Given the description of an element on the screen output the (x, y) to click on. 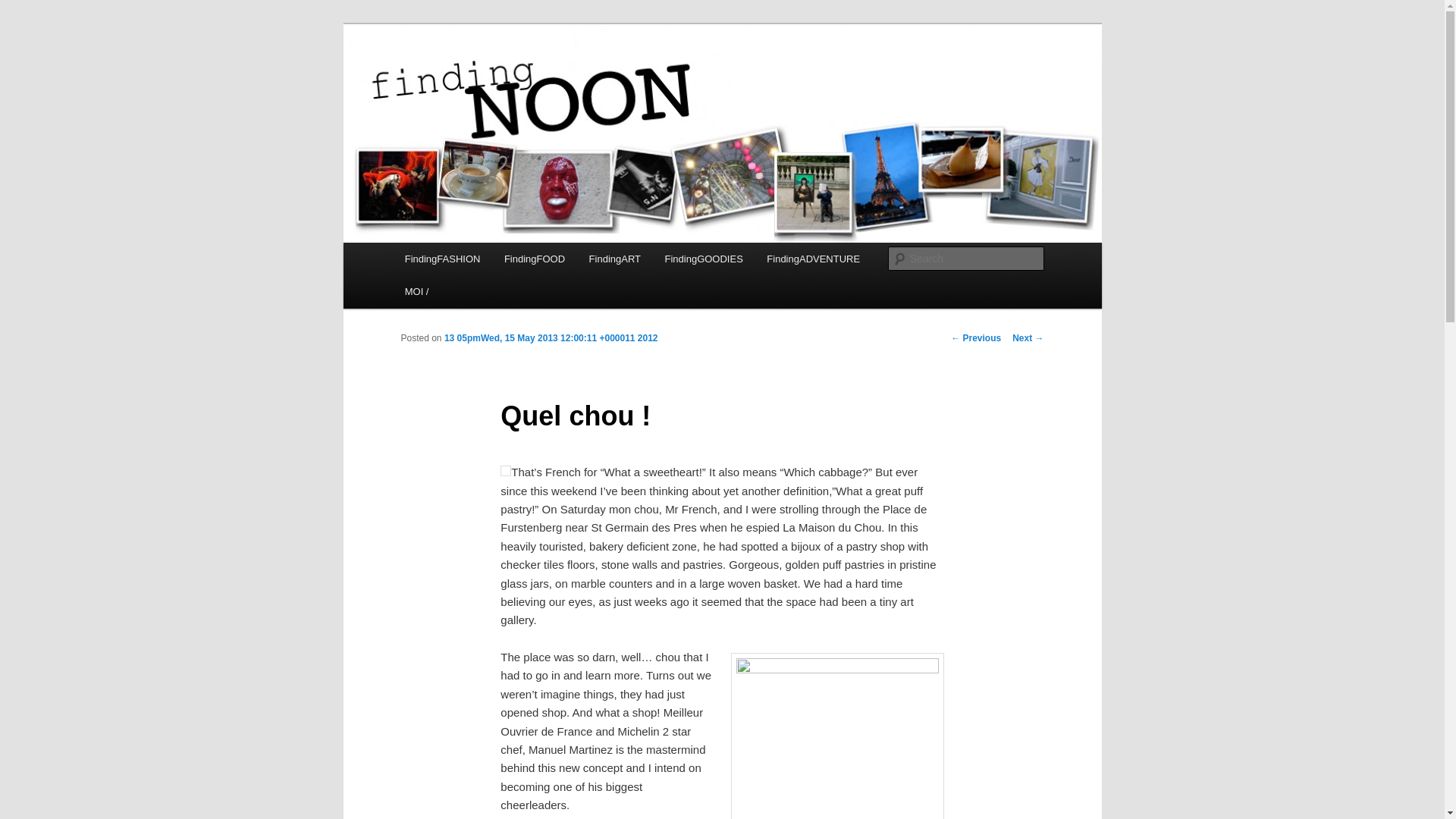
Finding Noon (473, 78)
FindingGOODIES (703, 258)
La Maison du Chou (505, 470)
12:00 pm (551, 337)
FindingADVENTURE (813, 258)
Search (24, 8)
FindingFOOD (534, 258)
Paris Maison du Chou (836, 735)
FindingART (614, 258)
